Given the description of an element on the screen output the (x, y) to click on. 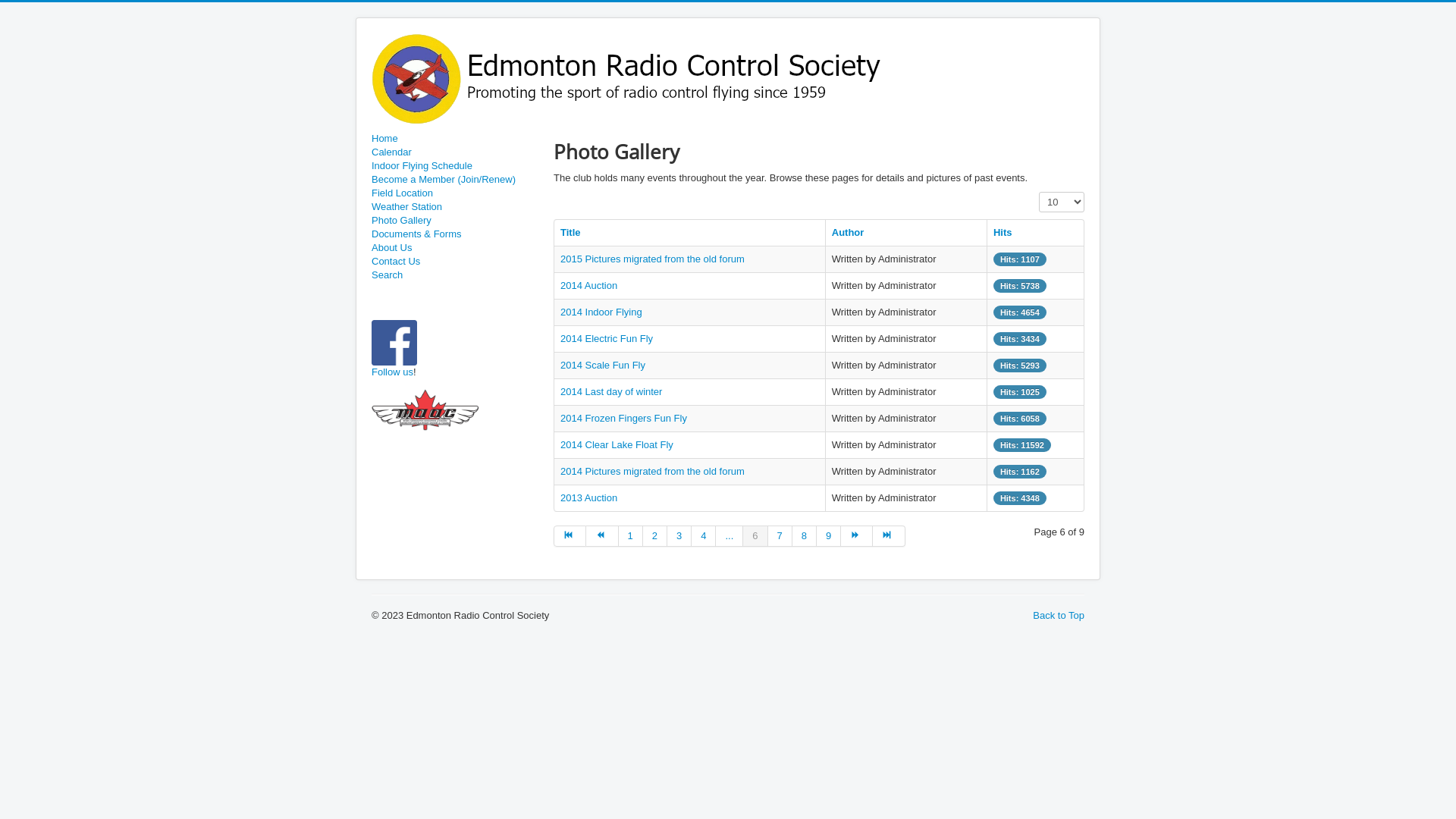
Search Element type: text (454, 275)
End Element type: hover (888, 535)
2014 Frozen Fingers Fun Fly Element type: text (623, 417)
1 Element type: text (630, 535)
3 Element type: text (679, 535)
Calendar Element type: text (454, 152)
2014 Pictures migrated from the old forum Element type: text (652, 470)
Home Element type: text (454, 138)
... Element type: text (729, 535)
Title Element type: text (570, 232)
6 Element type: text (755, 535)
Become a Member (Join/Renew) Element type: text (454, 179)
Back to Top Element type: text (1058, 615)
Prev Element type: hover (602, 535)
4 Element type: text (703, 535)
2014 Electric Fun Fly Element type: text (606, 338)
About Us Element type: text (454, 247)
Indoor Flying Schedule Element type: text (454, 165)
Follow us Element type: text (392, 371)
Documents & Forms Element type: text (454, 234)
Field Location Element type: text (454, 193)
  Element type: text (417, 371)
2014 Last day of winter Element type: text (611, 391)
2014 Indoor Flying Element type: text (601, 311)
2013 Auction Element type: text (588, 497)
Next Element type: hover (856, 535)
2014 Auction Element type: text (588, 285)
Weather Station Element type: text (454, 206)
2015 Pictures migrated from the old forum Element type: text (652, 258)
Hits Element type: text (1002, 232)
7 Element type: text (780, 535)
2014 Clear Lake Float Fly Element type: text (616, 444)
2 Element type: text (655, 535)
Photo Gallery Element type: text (454, 220)
9 Element type: text (828, 535)
Start Element type: hover (569, 535)
Author Element type: text (847, 232)
8 Element type: text (804, 535)
Contact Us Element type: text (454, 261)
2014 Scale Fun Fly Element type: text (602, 364)
